Given the description of an element on the screen output the (x, y) to click on. 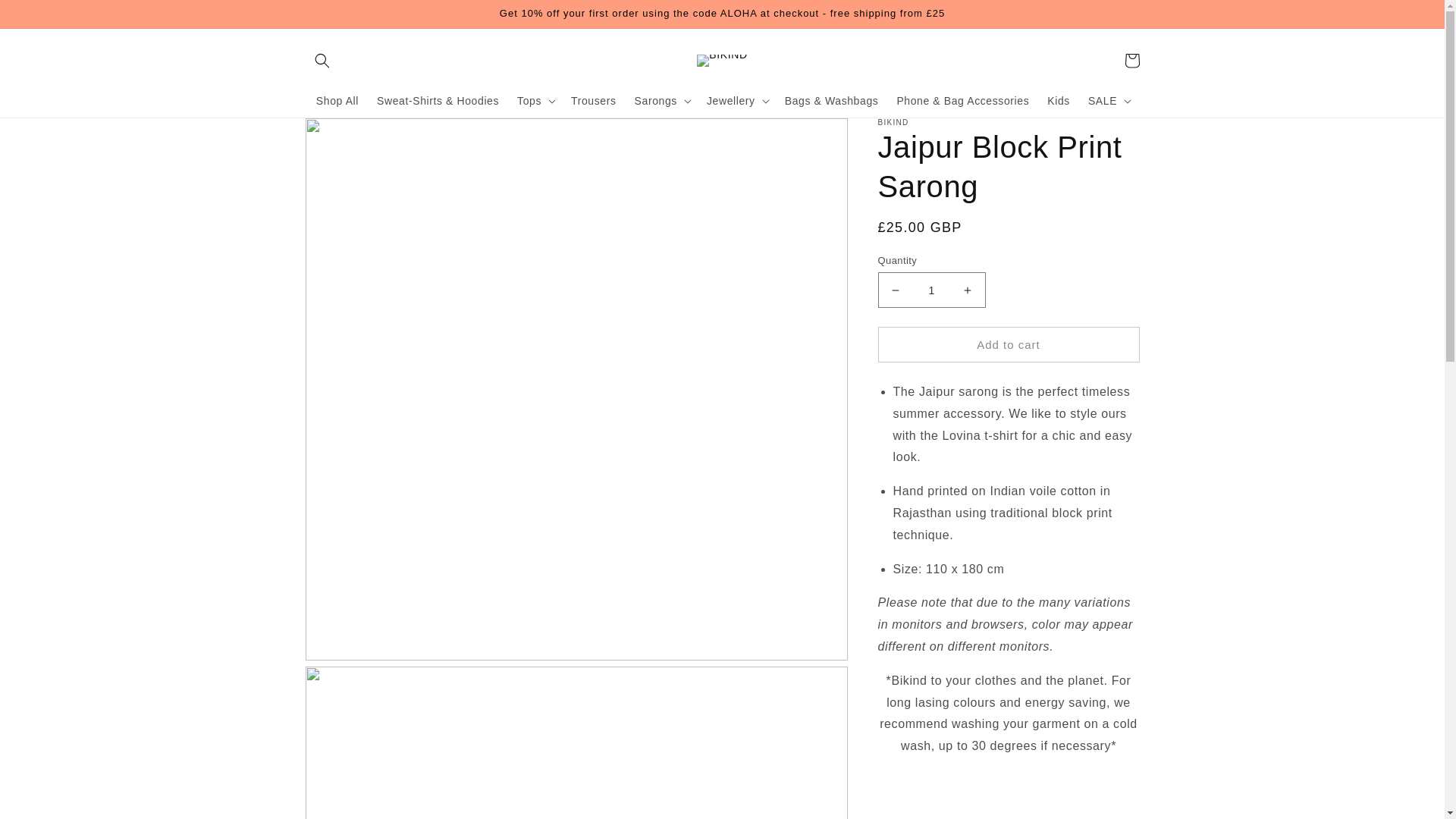
Skip to content (45, 17)
Shop All (337, 101)
1 (931, 289)
Trousers (594, 101)
